Given the description of an element on the screen output the (x, y) to click on. 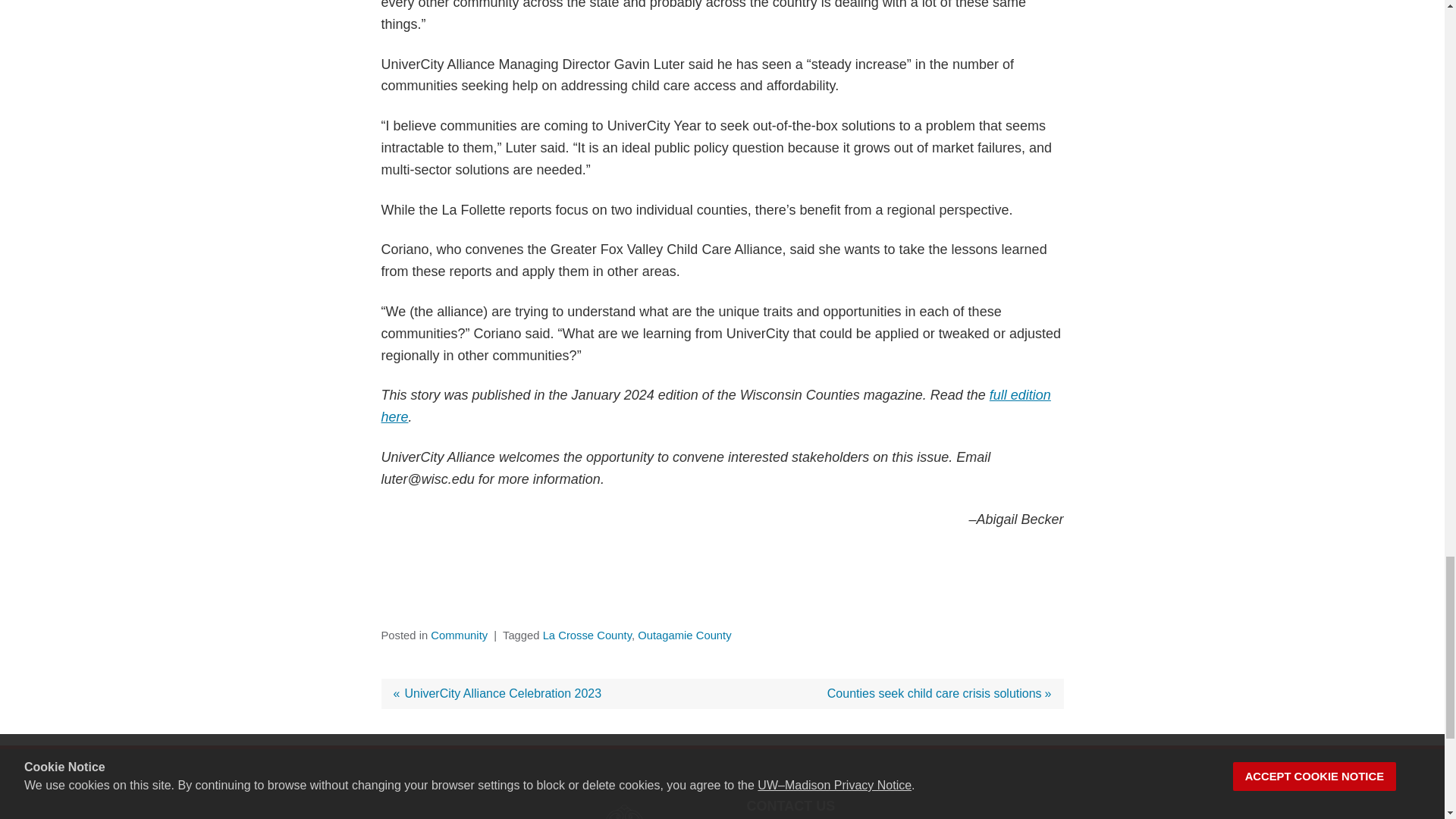
University logo that links to main university website (621, 808)
Outagamie County (939, 693)
full edition here (683, 635)
La Crosse County (497, 693)
Community (714, 406)
